Given the description of an element on the screen output the (x, y) to click on. 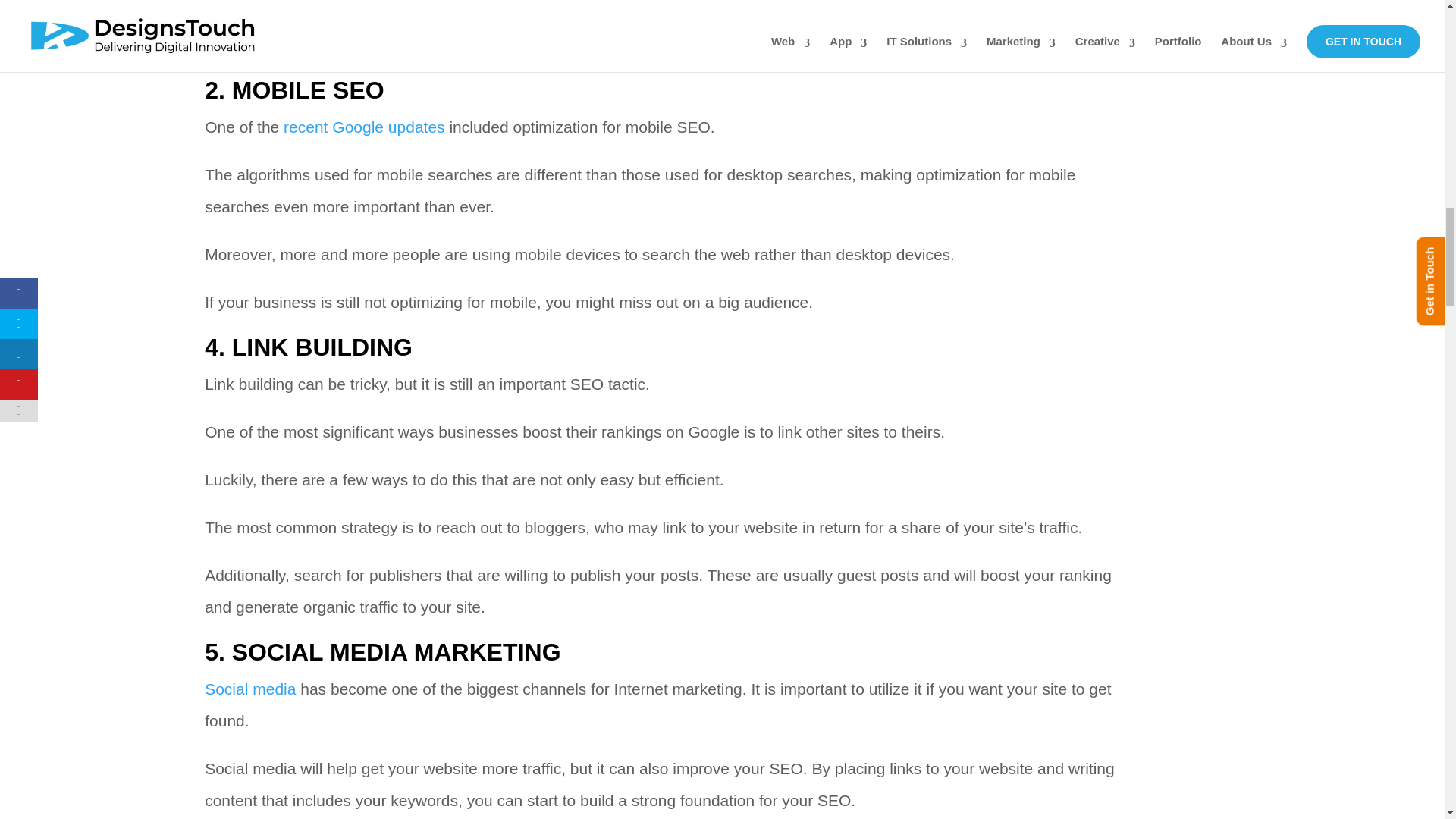
Social media (250, 688)
recent Google updates (363, 126)
check out this article! (585, 45)
